Given the description of an element on the screen output the (x, y) to click on. 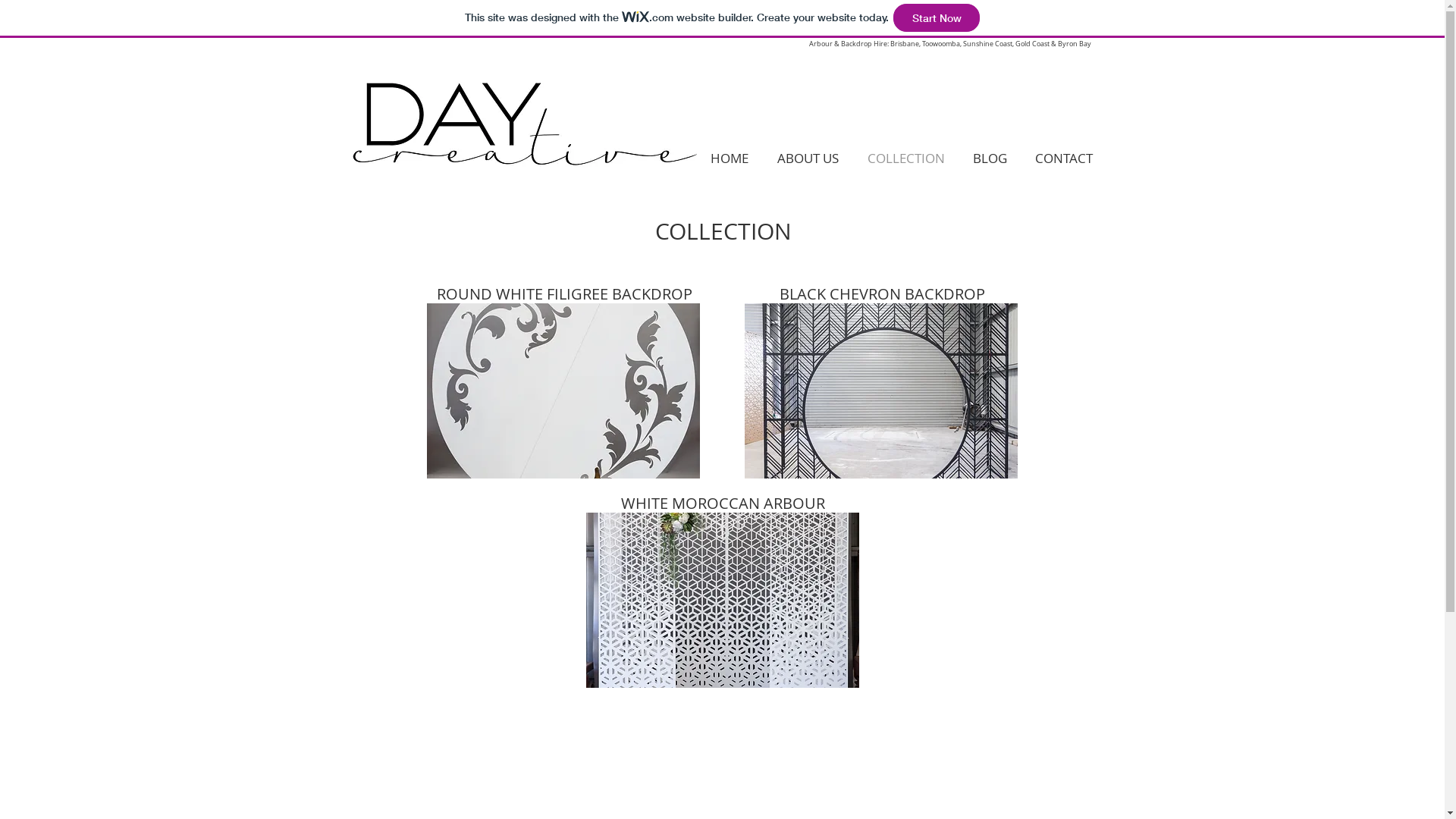
CONTACT Element type: text (1063, 158)
COLLECTION Element type: text (904, 158)
ABOUT US Element type: text (807, 158)
Day Creative Horizontes Script final.jpg Element type: hover (519, 119)
BLOG Element type: text (989, 158)
MOROCCAN Element type: text (717, 502)
HOME Element type: text (729, 158)
